Given the description of an element on the screen output the (x, y) to click on. 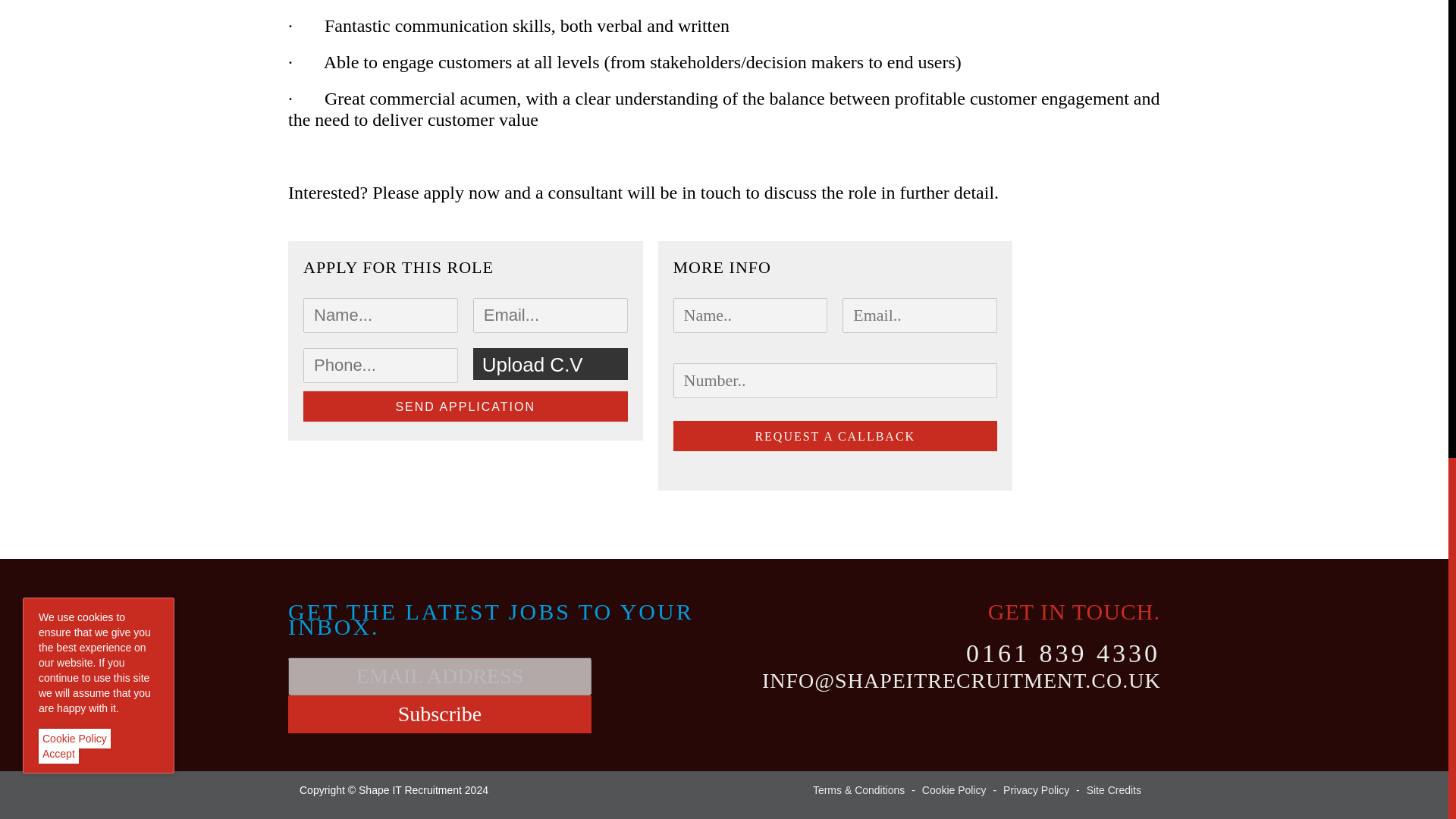
Cookie Policy (954, 789)
SEND APPLICATION (464, 406)
Request a callback (834, 435)
Request a callback (834, 435)
Site Credits (1113, 789)
Subscribe (439, 714)
0161 839 4330 (1063, 653)
Privacy Policy (1035, 789)
